Given the description of an element on the screen output the (x, y) to click on. 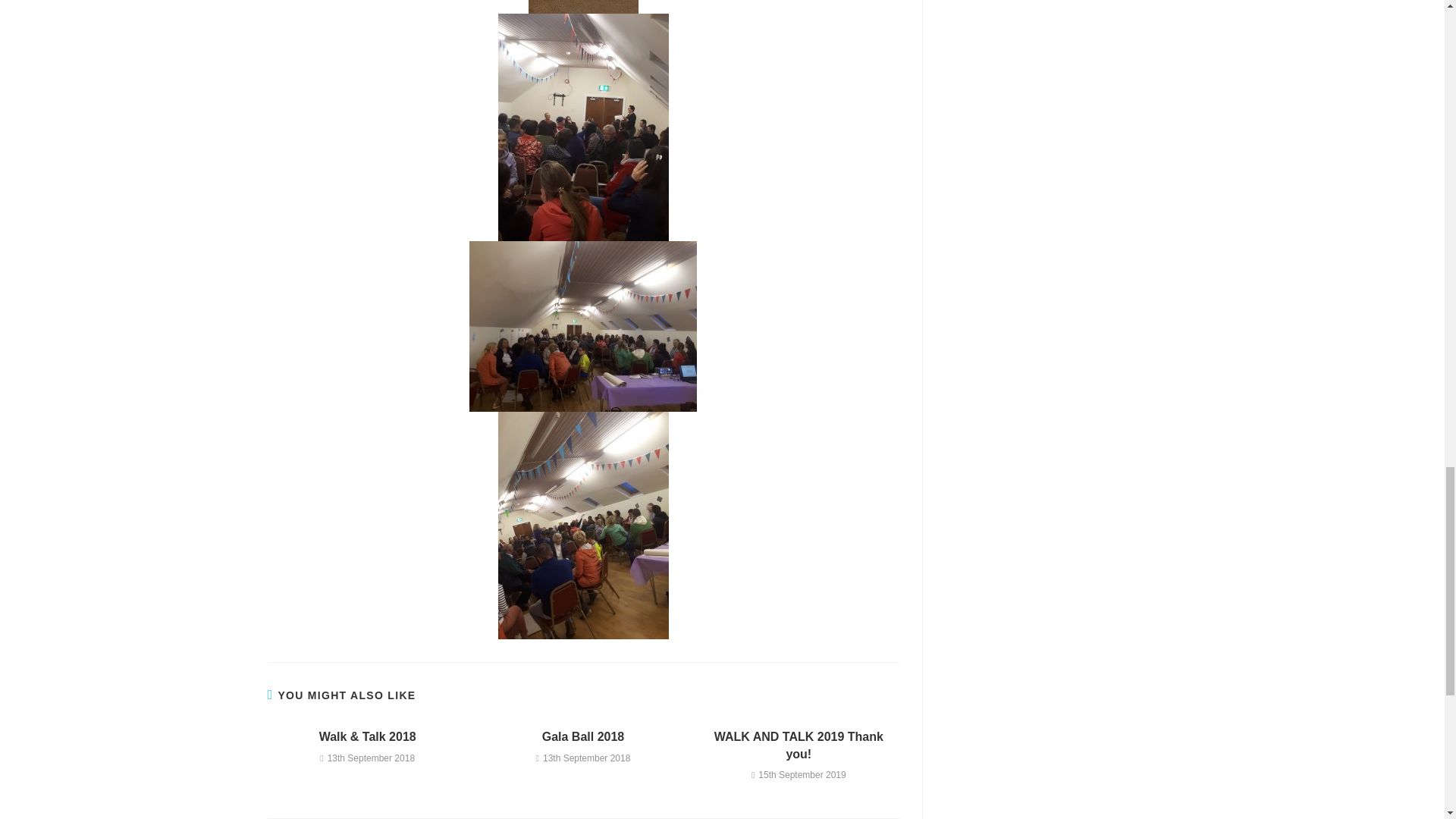
WALK AND TALK 2019 Thank you! (798, 745)
Gala Ball 2018 (583, 736)
WALK AND TALK 2019 Thank you! (798, 745)
Gala Ball 2018 (583, 736)
